Given the description of an element on the screen output the (x, y) to click on. 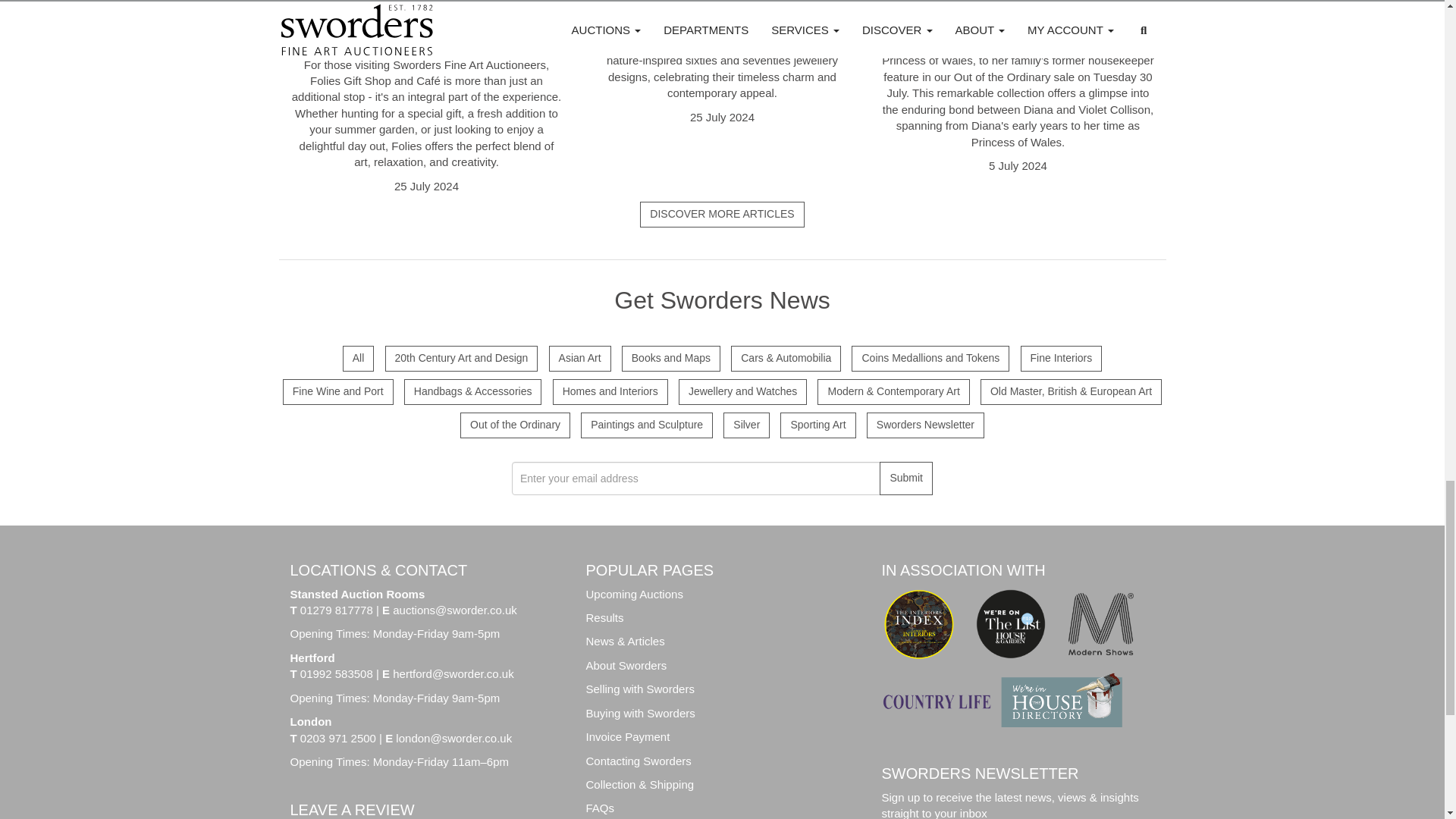
eee360cc8c (418, 392)
5ace379ff3 (297, 392)
4a3a06426a (794, 425)
44af51d808 (475, 425)
-1 (357, 358)
2cff2c0b57 (737, 425)
ea748b3d0a (693, 392)
92b2006b84 (399, 358)
0142c27b59 (881, 425)
a9a4fa8a39 (567, 392)
e2da43f097 (865, 358)
f4b7cdc253 (564, 358)
64ebaa8c0e (746, 358)
dc8ac0c84c (636, 358)
6be3f643c9 (595, 425)
